Given the description of an element on the screen output the (x, y) to click on. 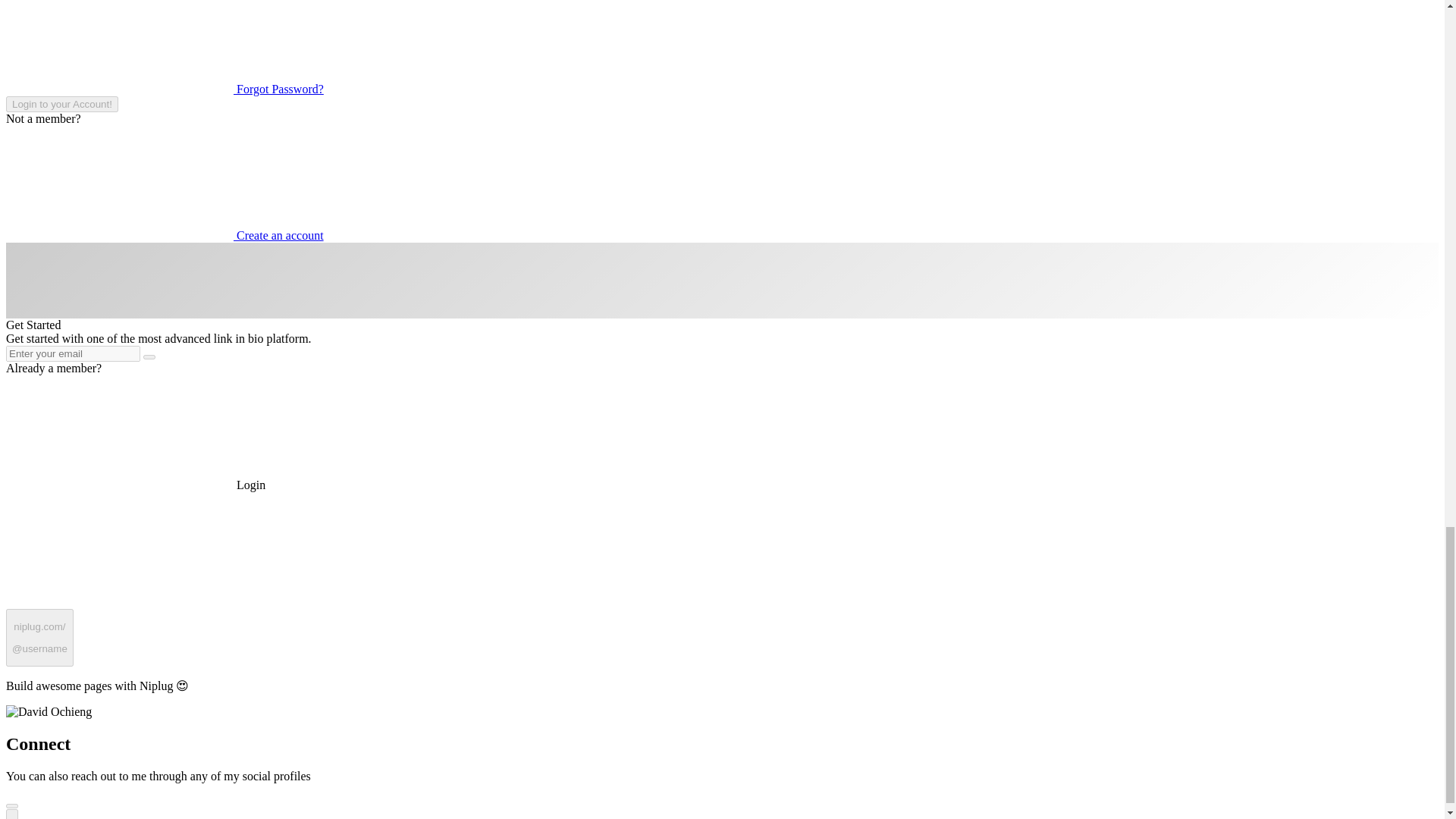
Create an account (164, 235)
Login to your Account! (61, 104)
Login (134, 484)
Forgot Password? (164, 88)
